Given the description of an element on the screen output the (x, y) to click on. 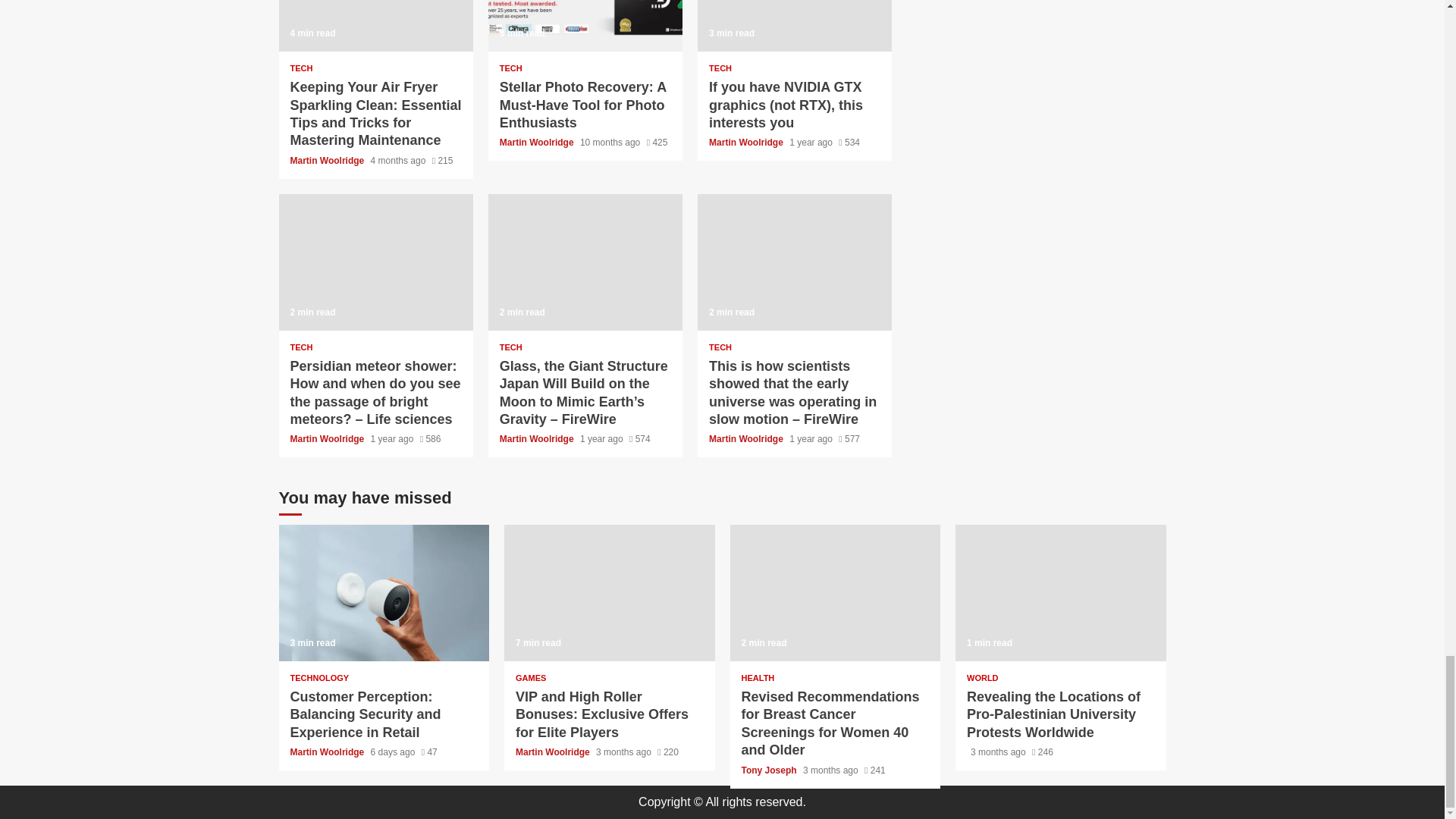
TECH (301, 68)
Martin Woolridge (537, 142)
TECH (510, 68)
215 (442, 160)
Martin Woolridge (327, 160)
425 (657, 142)
